Given the description of an element on the screen output the (x, y) to click on. 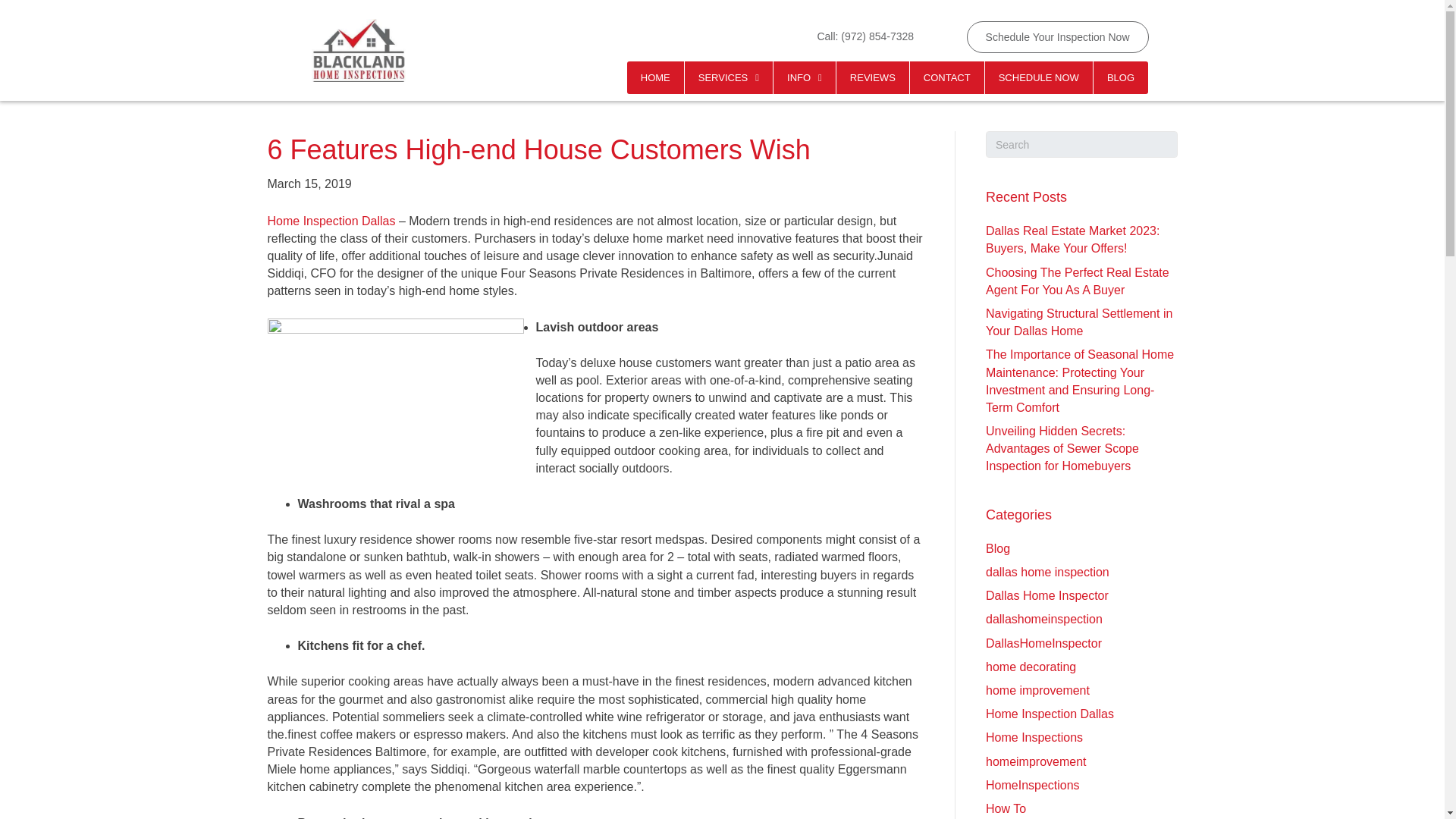
REVIEWS (871, 77)
CONTACT (947, 77)
Schedule Your Inspection Now (1057, 37)
Type and press Enter to search. (1081, 144)
BLOG (1120, 77)
HOME (655, 77)
SCHEDULE NOW (1039, 77)
blackland-logo (358, 49)
INFO (804, 77)
SERVICES (728, 77)
